Given the description of an element on the screen output the (x, y) to click on. 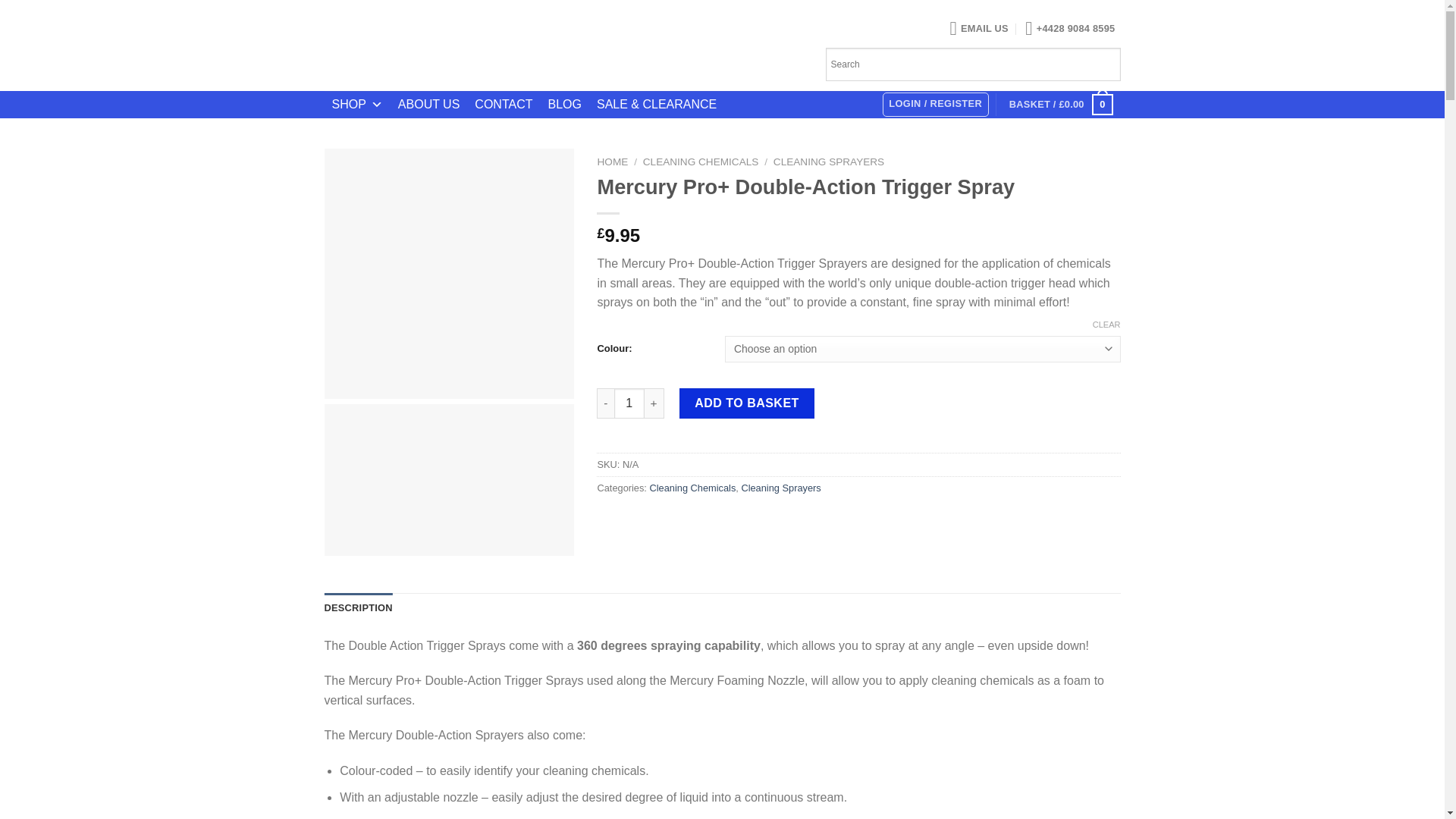
SHOP (357, 104)
Basket (1060, 103)
Cleancare Ireland Ltd. - Powerful Cleaning Solutions (474, 45)
EMAIL US (979, 28)
1 (629, 403)
